Given the description of an element on the screen output the (x, y) to click on. 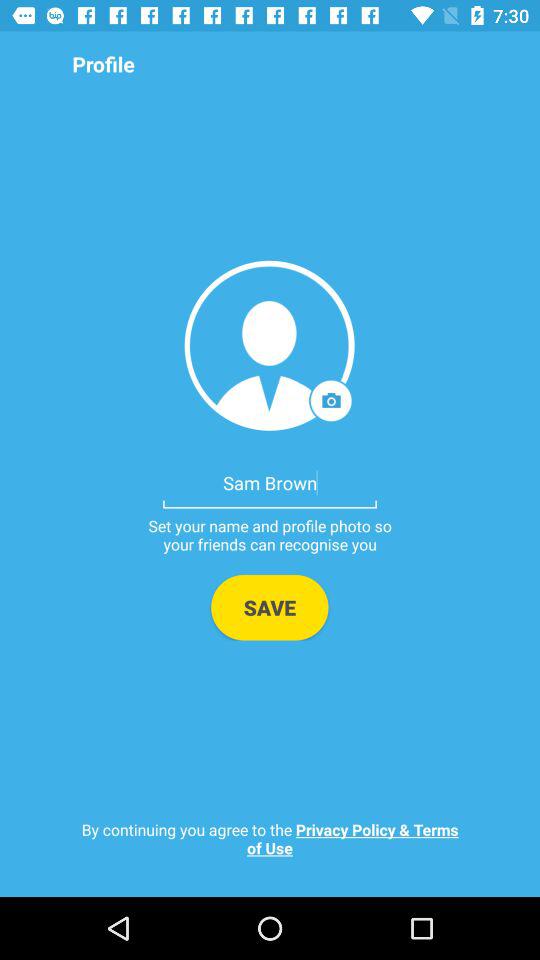
select the item above set your name icon (269, 482)
